Given the description of an element on the screen output the (x, y) to click on. 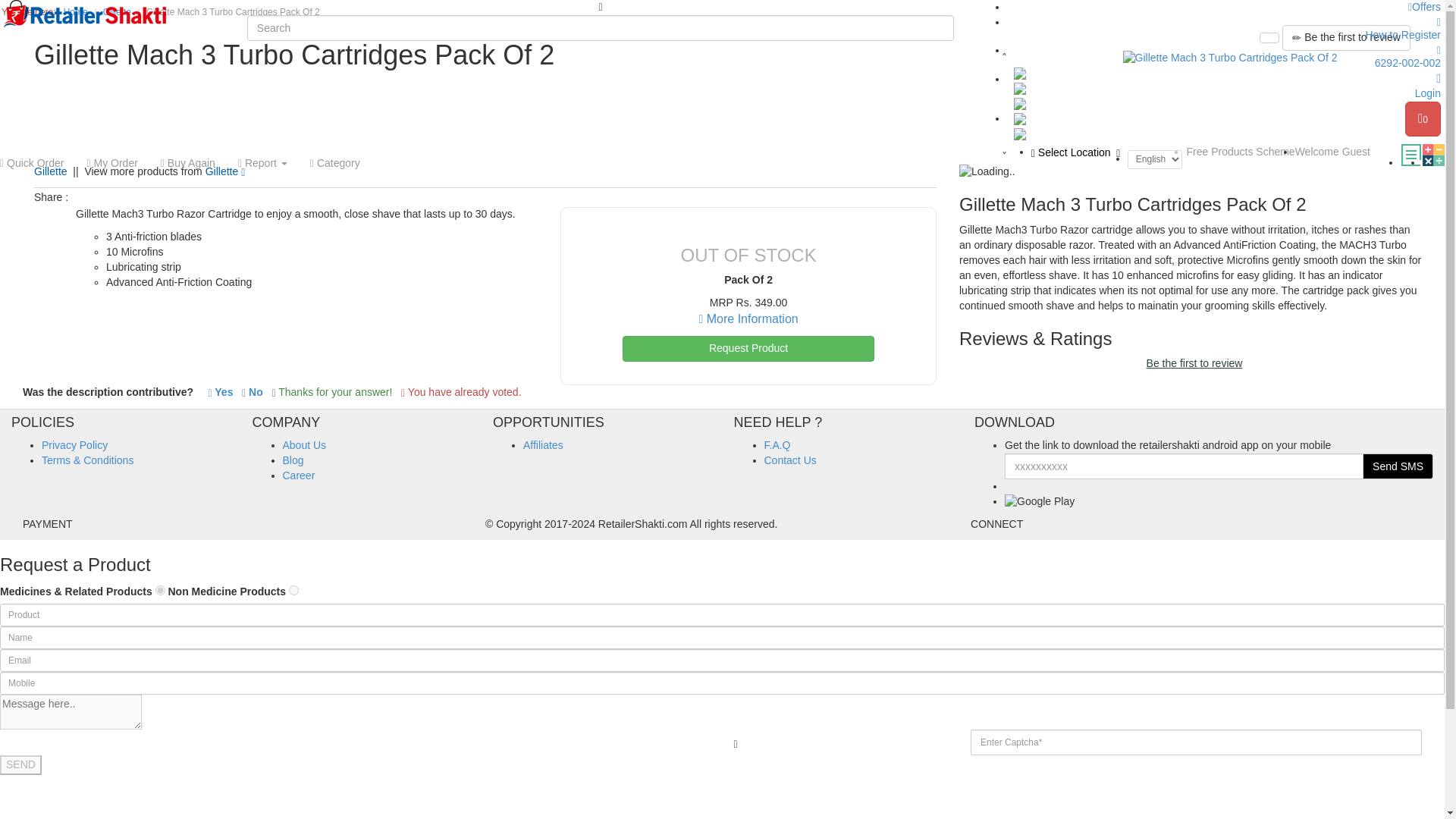
Offers (1424, 6)
Login (1224, 85)
P (160, 590)
Home (75, 11)
Category (334, 162)
Gillette Mach 3 Turbo Cartridges Pack Of 2 (1230, 57)
Welcome Guest (1332, 151)
Gillette (49, 171)
0 (1423, 118)
Report (262, 162)
